Given the description of an element on the screen output the (x, y) to click on. 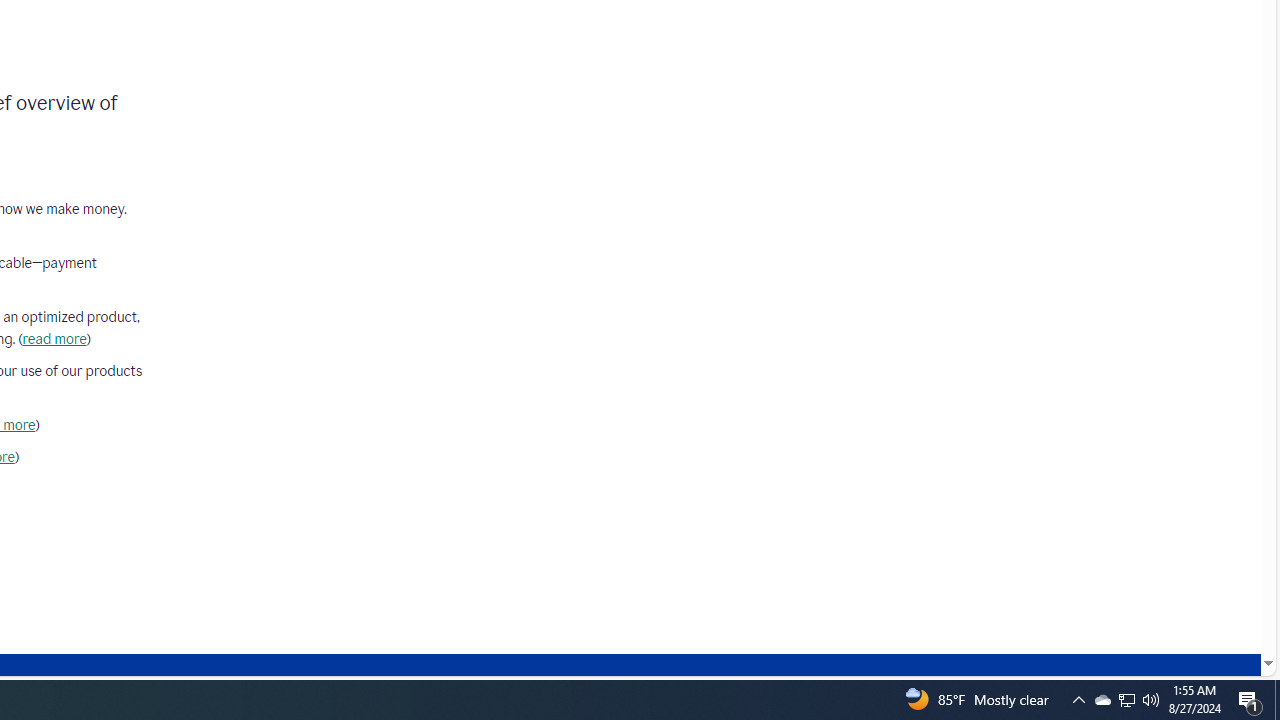
read more (54, 339)
